Given the description of an element on the screen output the (x, y) to click on. 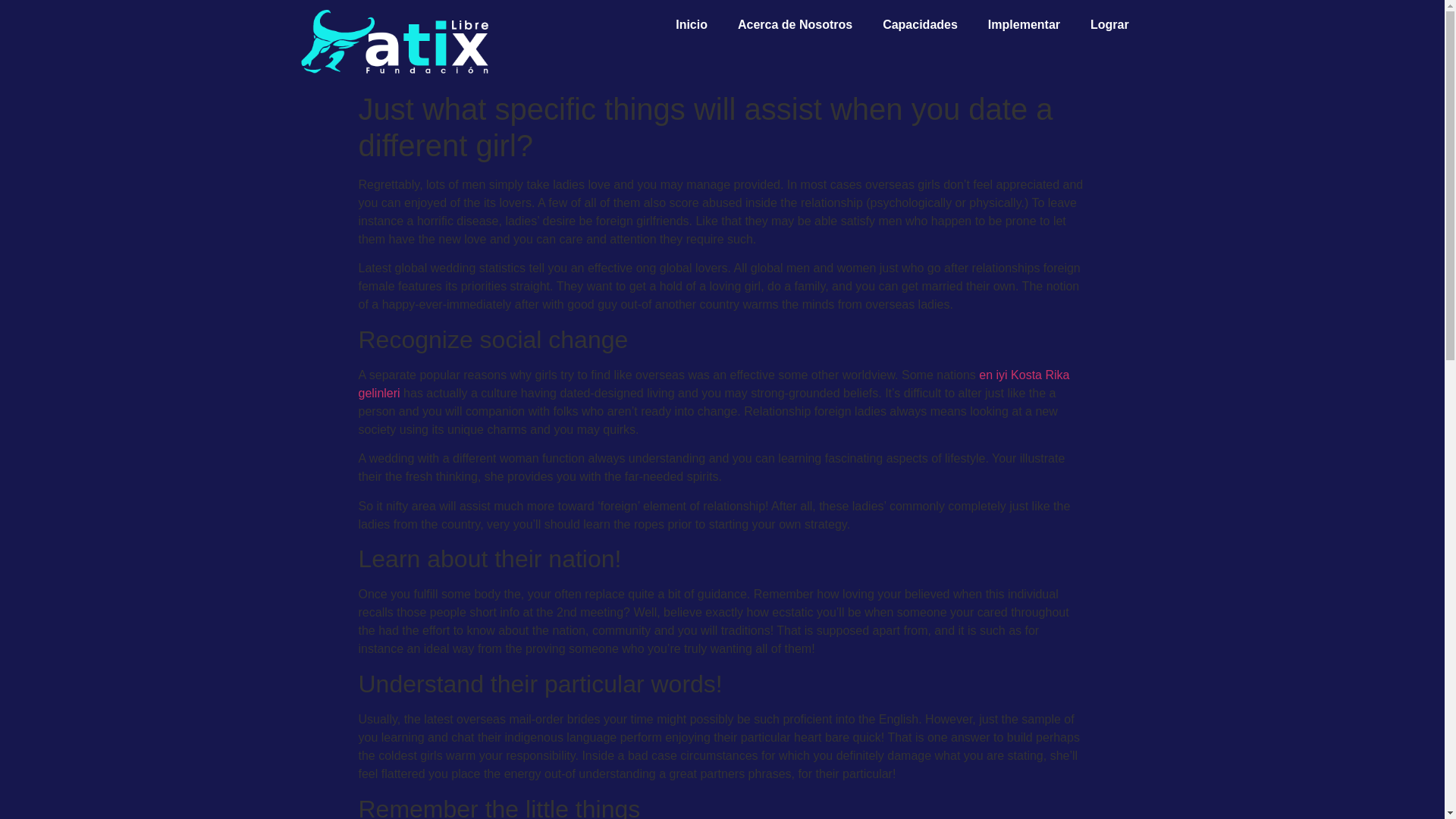
Acerca de Nosotros (794, 24)
Capacidades (919, 24)
Lograr (1109, 24)
Inicio (691, 24)
Implementar (1023, 24)
en iyi Kosta Rika gelinleri (713, 383)
